Given the description of an element on the screen output the (x, y) to click on. 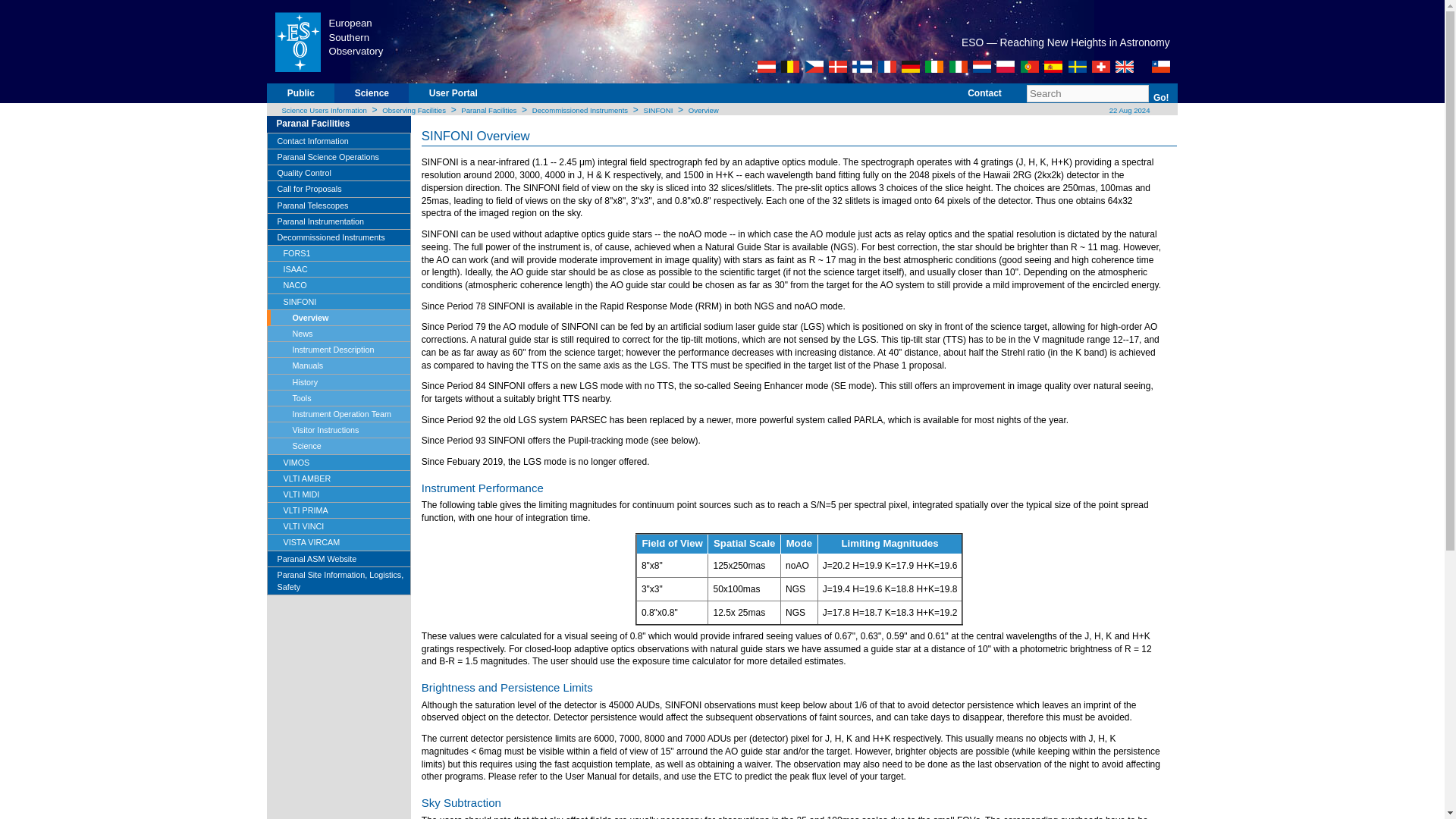
France (886, 66)
SINFONI (657, 110)
Switzerland (1100, 66)
Germany (910, 66)
Paranal Science Operations (338, 157)
Decommissioned Instruments (579, 110)
Belgium (789, 66)
User Portal (453, 98)
Science Users Information (323, 110)
Poland (1004, 66)
